Given the description of an element on the screen output the (x, y) to click on. 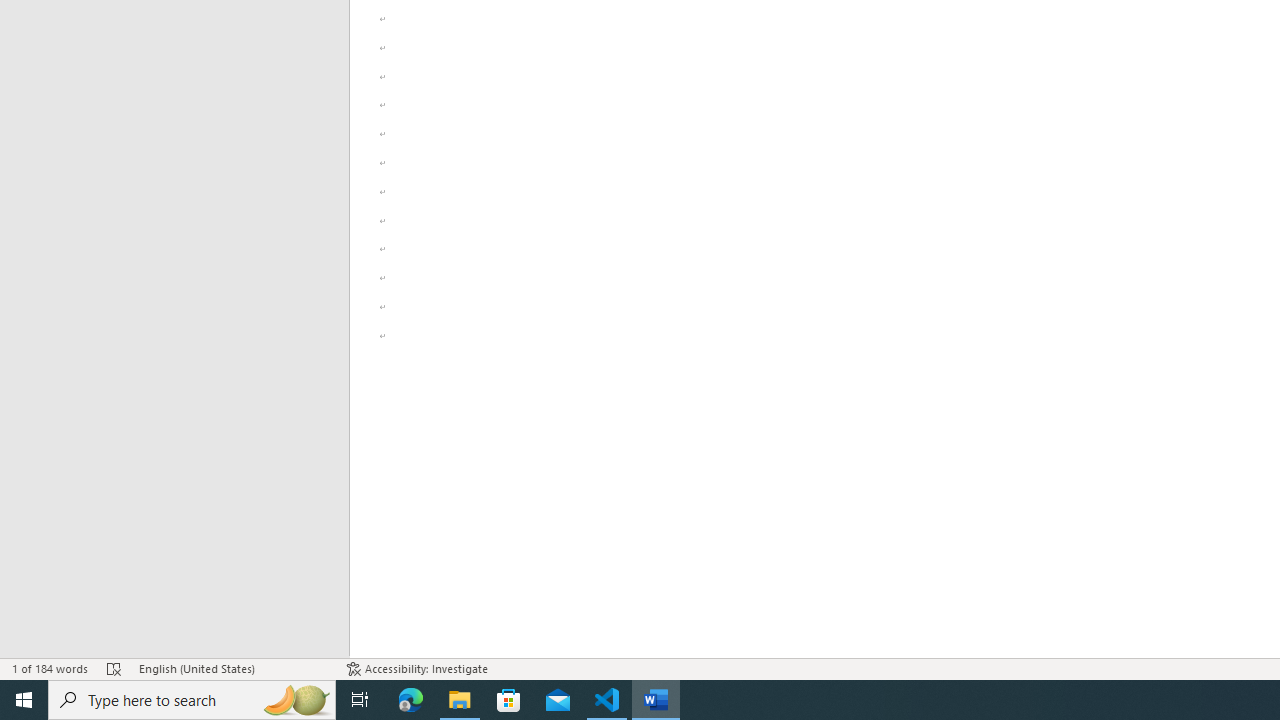
Accessibility Checker Accessibility: Investigate (417, 668)
Spelling and Grammar Check Errors (114, 668)
Language English (United States) (232, 668)
